Given the description of an element on the screen output the (x, y) to click on. 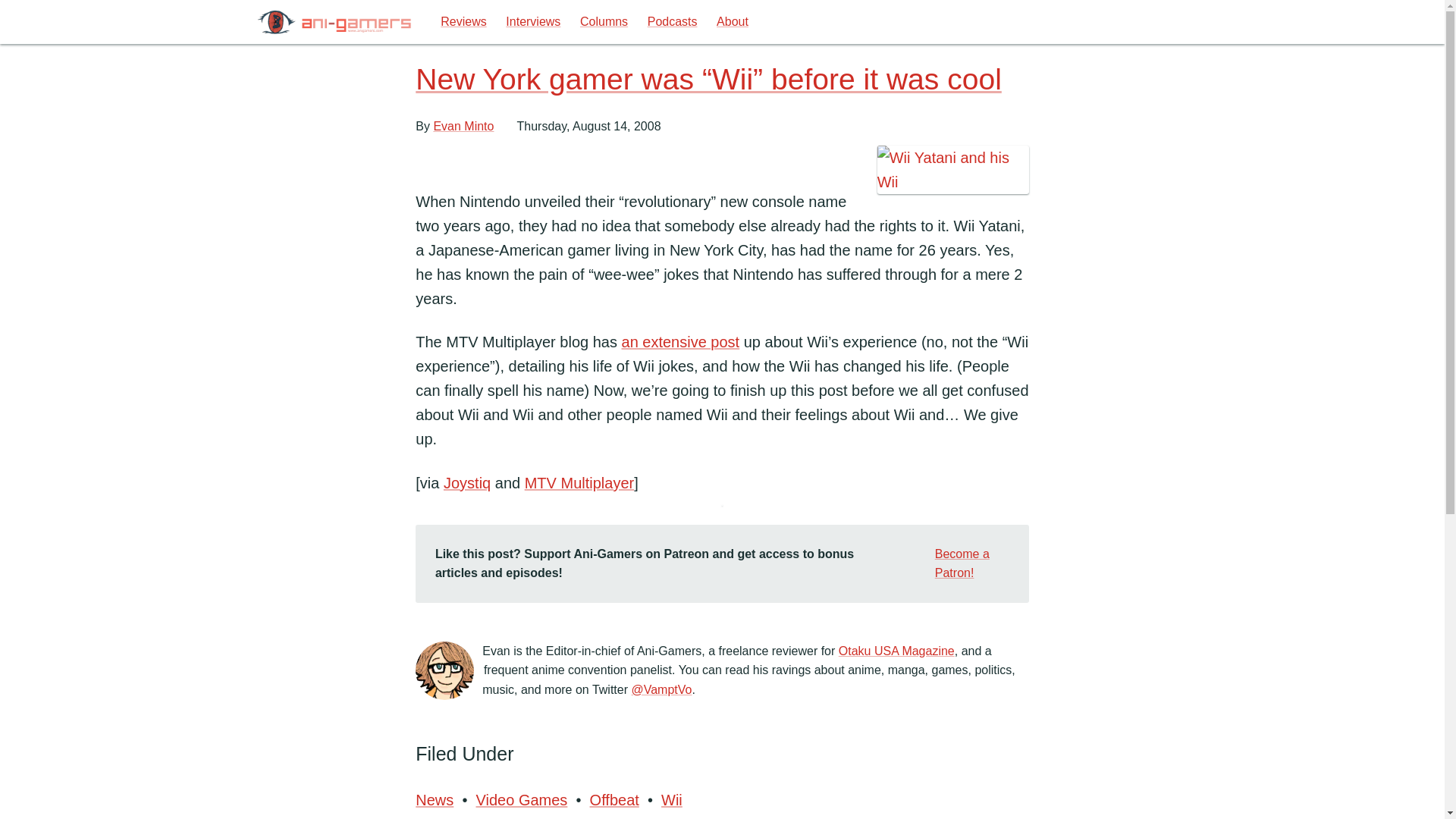
Wii (670, 799)
News (434, 799)
Search (1178, 22)
Search (1178, 22)
Joystiq (467, 483)
Evan Minto (462, 125)
Interviews (533, 21)
About (731, 21)
Reviews (463, 21)
Podcasts (671, 21)
Video Games (521, 799)
an extensive post (680, 341)
Offbeat (614, 799)
Become a Patron! (960, 563)
MTV Multiplayer (578, 483)
